Given the description of an element on the screen output the (x, y) to click on. 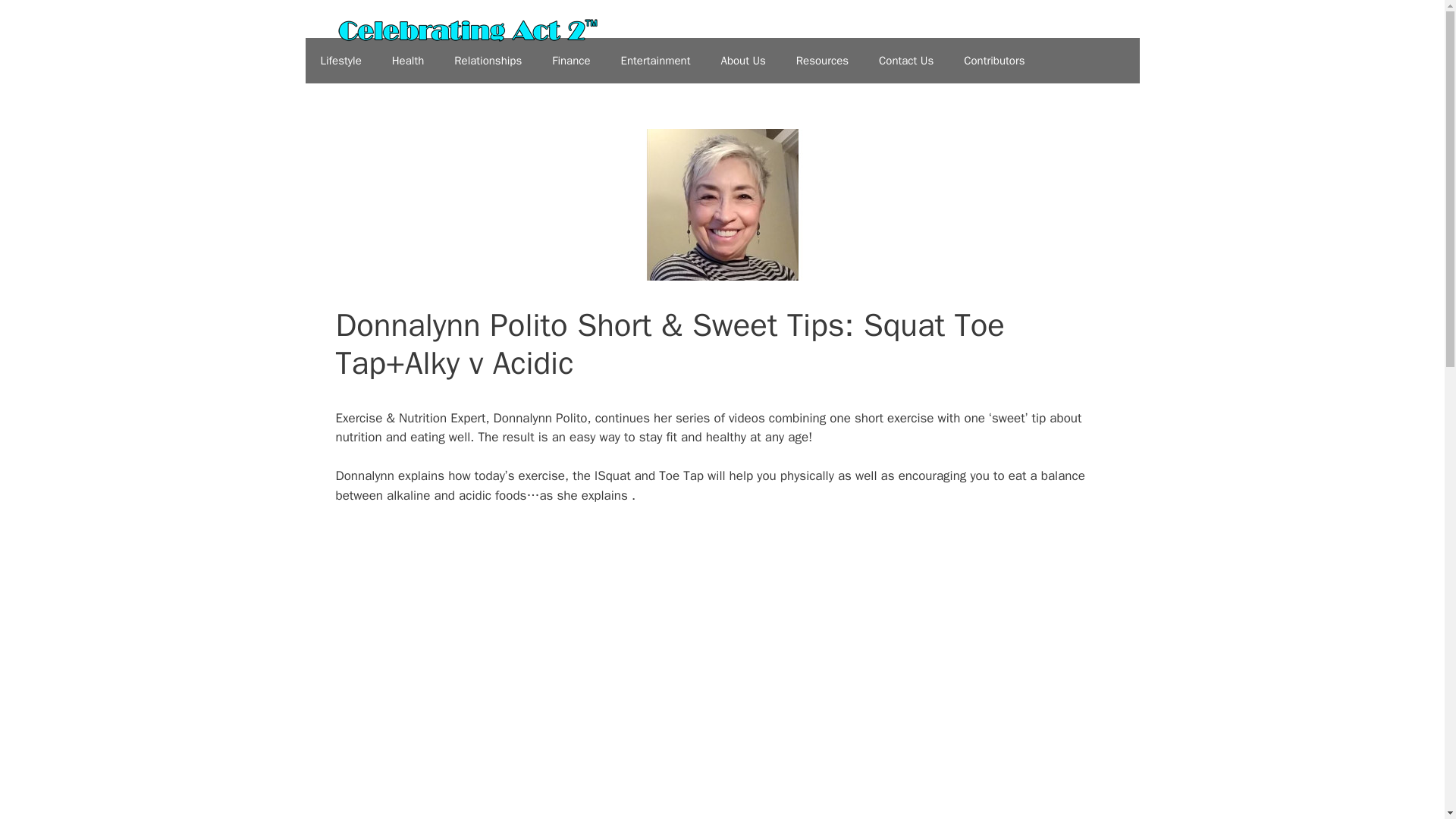
Entertainment (655, 60)
Resources (821, 60)
Contributors (994, 60)
Finance (571, 60)
Health (408, 60)
Lifestyle (339, 60)
Contact Us (906, 60)
Relationships (488, 60)
About Us (742, 60)
